Given the description of an element on the screen output the (x, y) to click on. 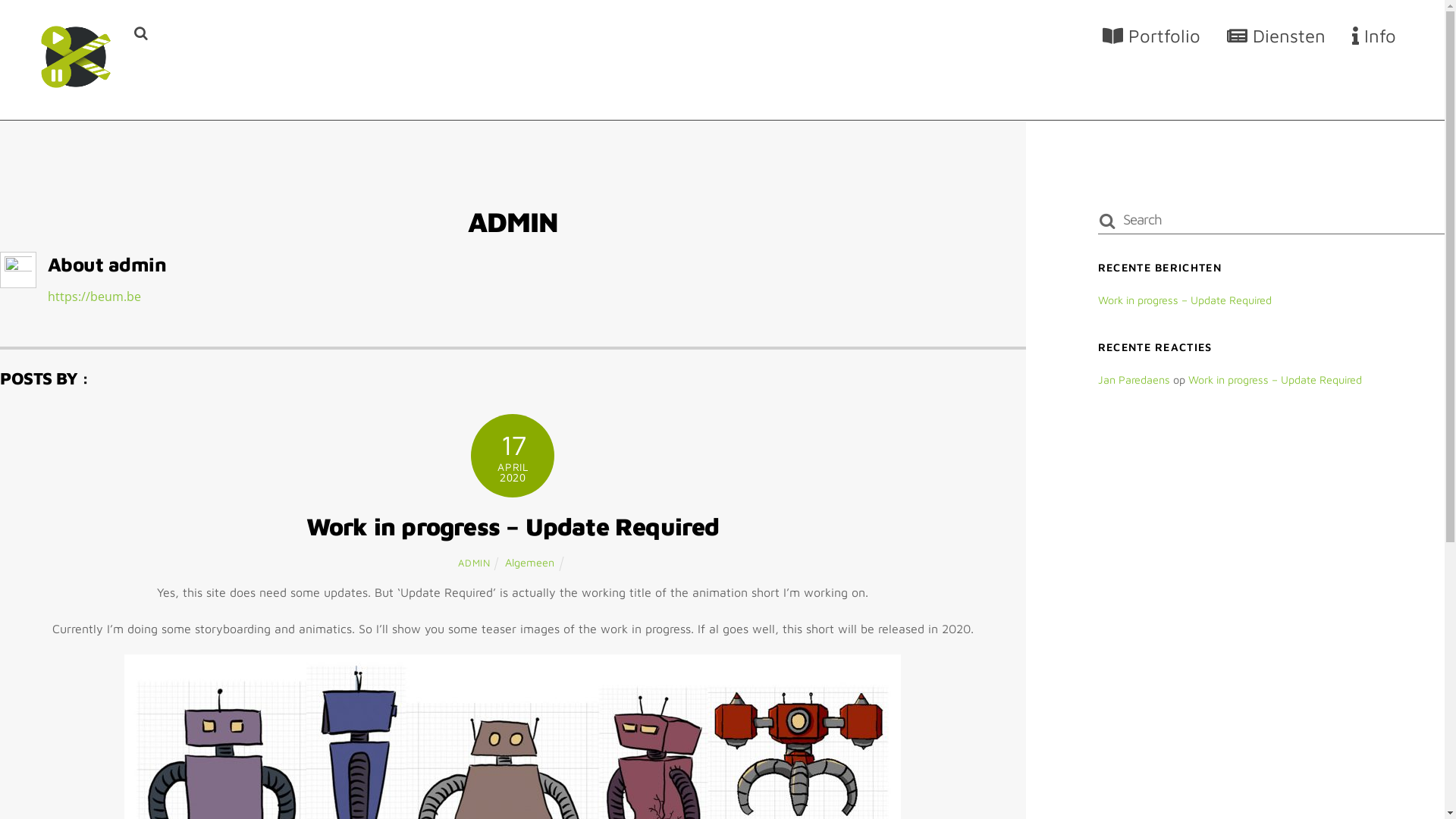
Search Element type: text (140, 32)
ADMIN Element type: text (473, 562)
Search Element type: hover (1271, 219)
Jan Paredaens Element type: text (1134, 379)
https://beum.be Element type: text (94, 296)
Info Element type: text (1373, 35)
Algemeen Element type: text (529, 561)
Diensten Element type: text (1275, 35)
Philippe Van Beeumen Element type: hover (75, 84)
Portfolio Element type: text (1151, 35)
